Given the description of an element on the screen output the (x, y) to click on. 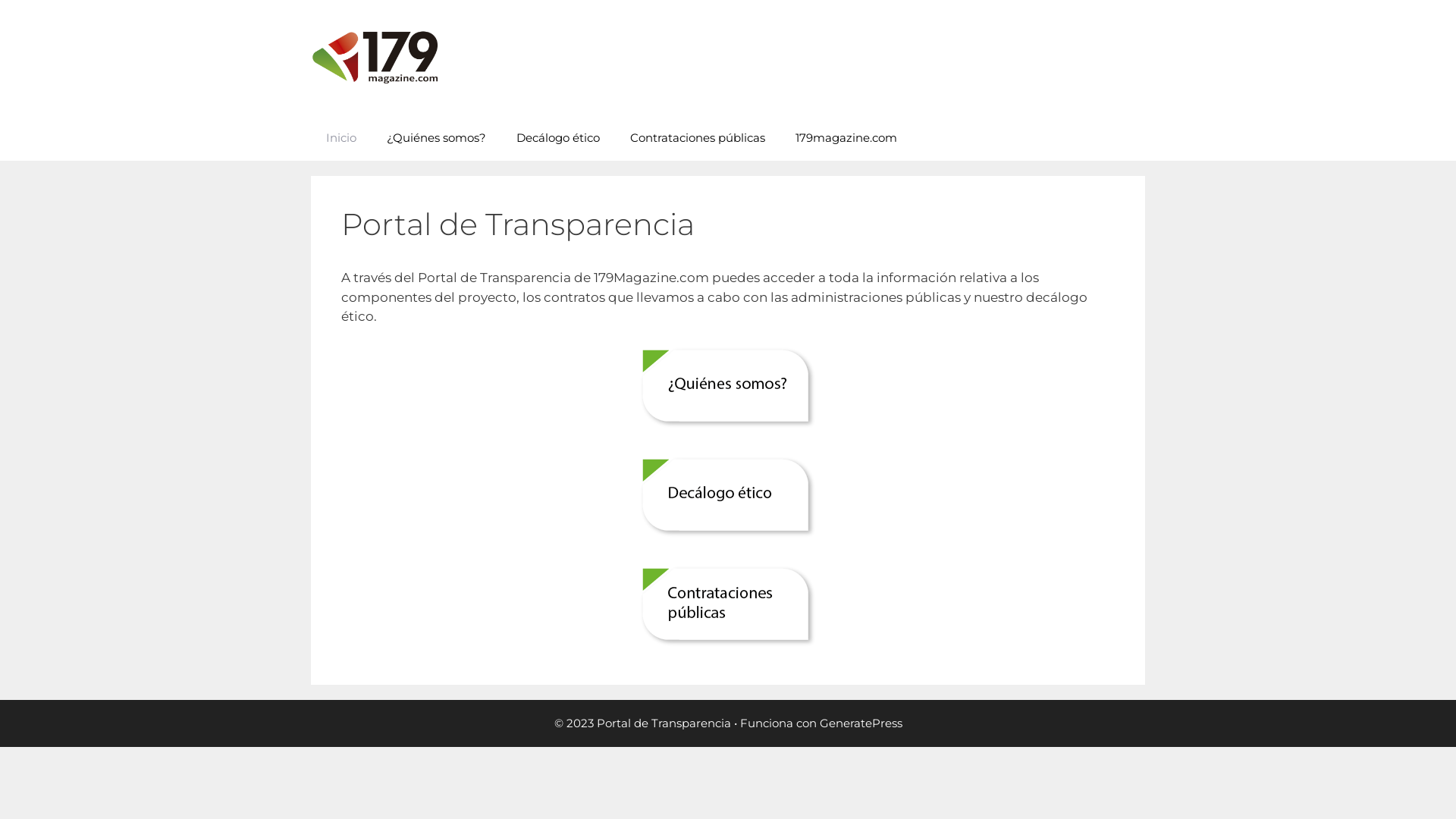
179magazine.com Element type: text (846, 137)
Inicio Element type: text (340, 137)
GeneratePress Element type: text (860, 722)
Portal de Transparencia Element type: hover (374, 57)
Saltar al contenido Element type: text (0, 0)
Portal de Transparencia Element type: hover (374, 56)
